Given the description of an element on the screen output the (x, y) to click on. 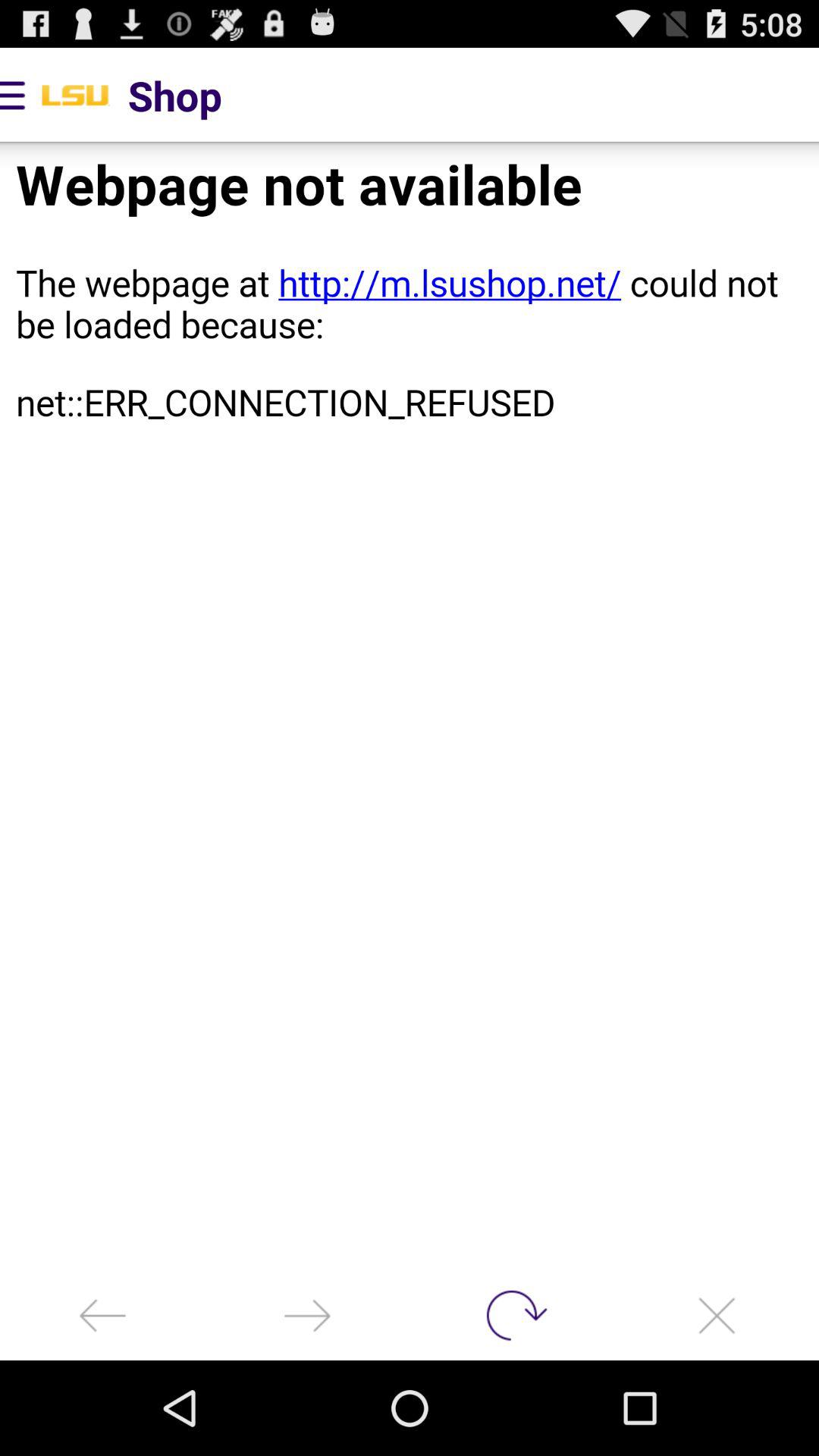
webpage imeag (409, 706)
